Given the description of an element on the screen output the (x, y) to click on. 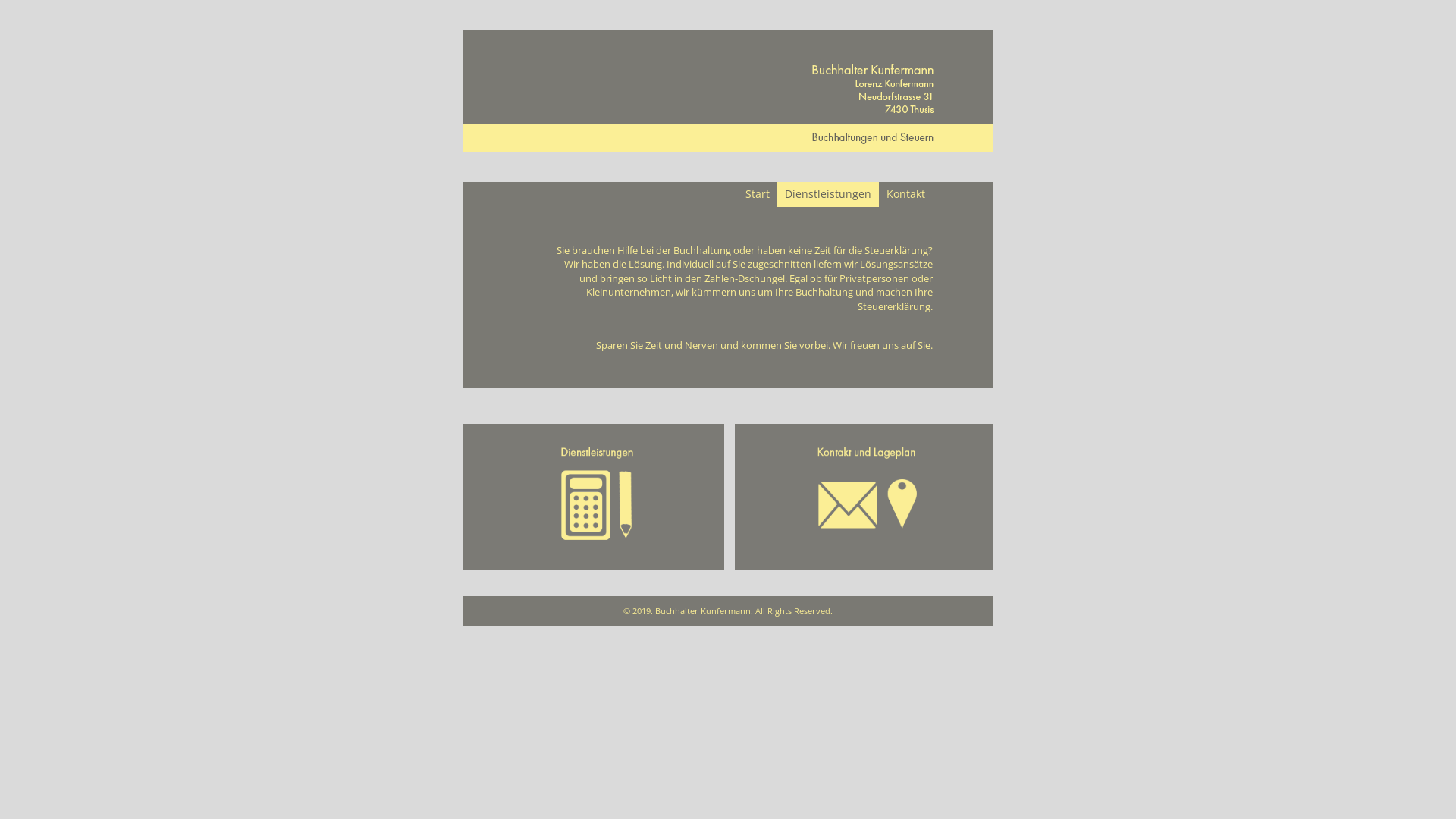
Dienstleistungen Element type: text (827, 194)
Kontakt Element type: text (905, 194)
Start Element type: text (757, 194)
